Given the description of an element on the screen output the (x, y) to click on. 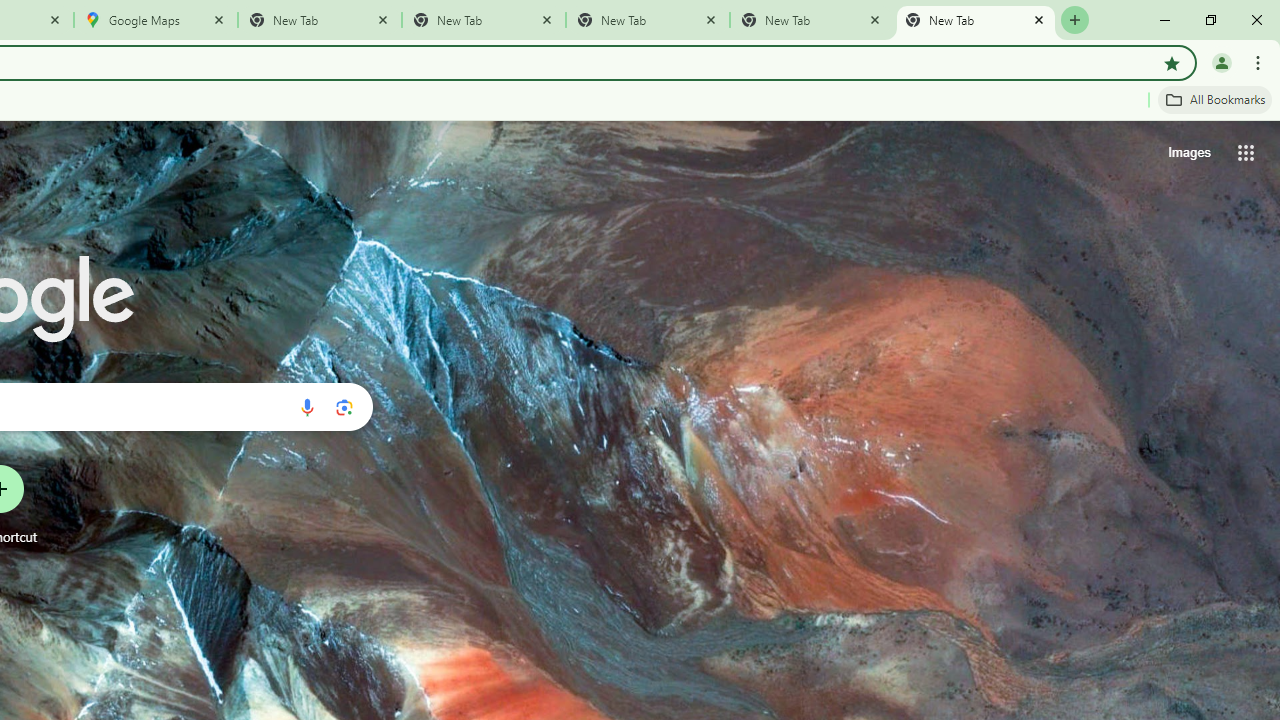
Google Maps (156, 20)
